Given the description of an element on the screen output the (x, y) to click on. 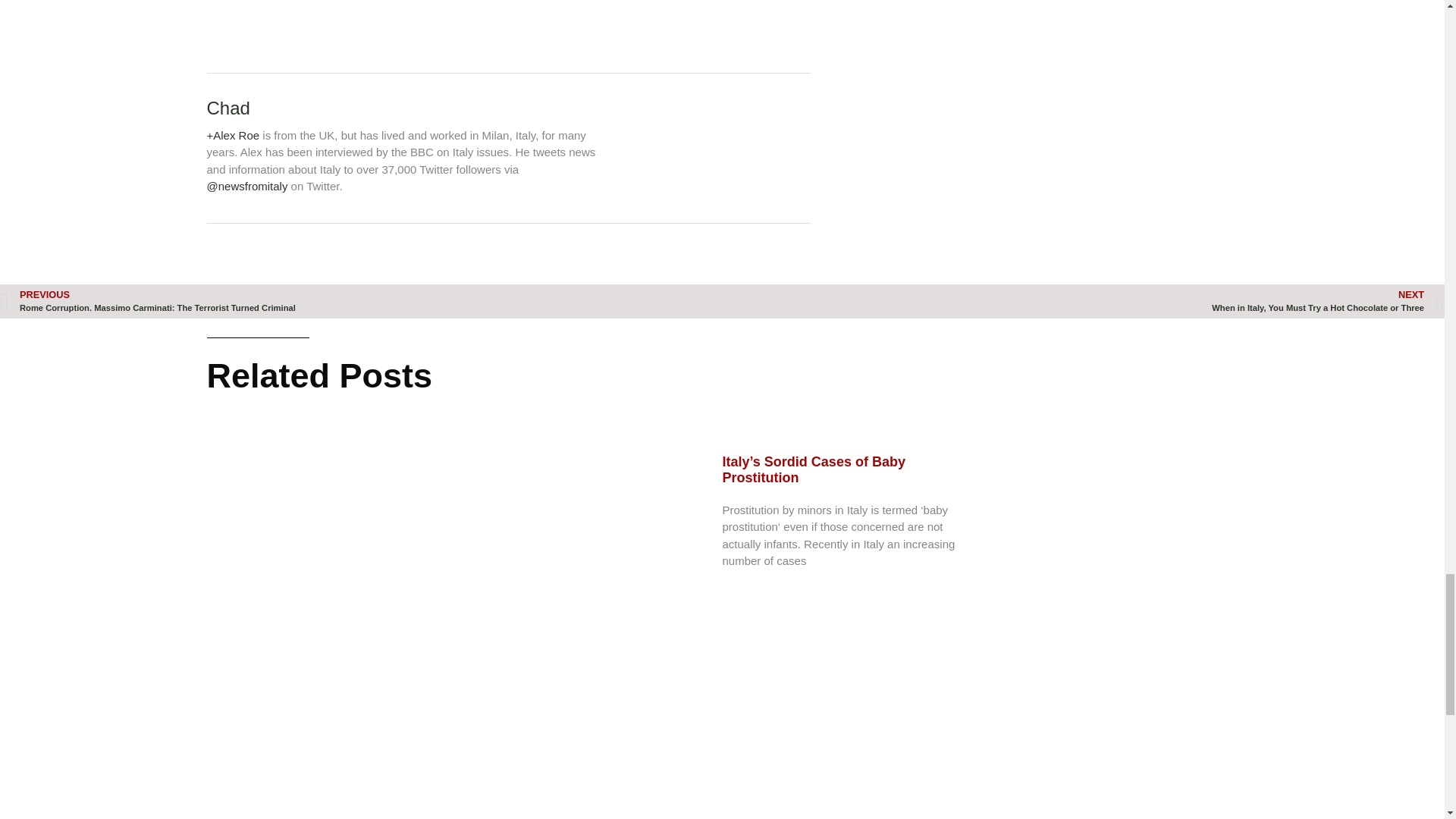
newsfromitaly - Italy news and views by Italy Chronicles (246, 185)
